Given the description of an element on the screen output the (x, y) to click on. 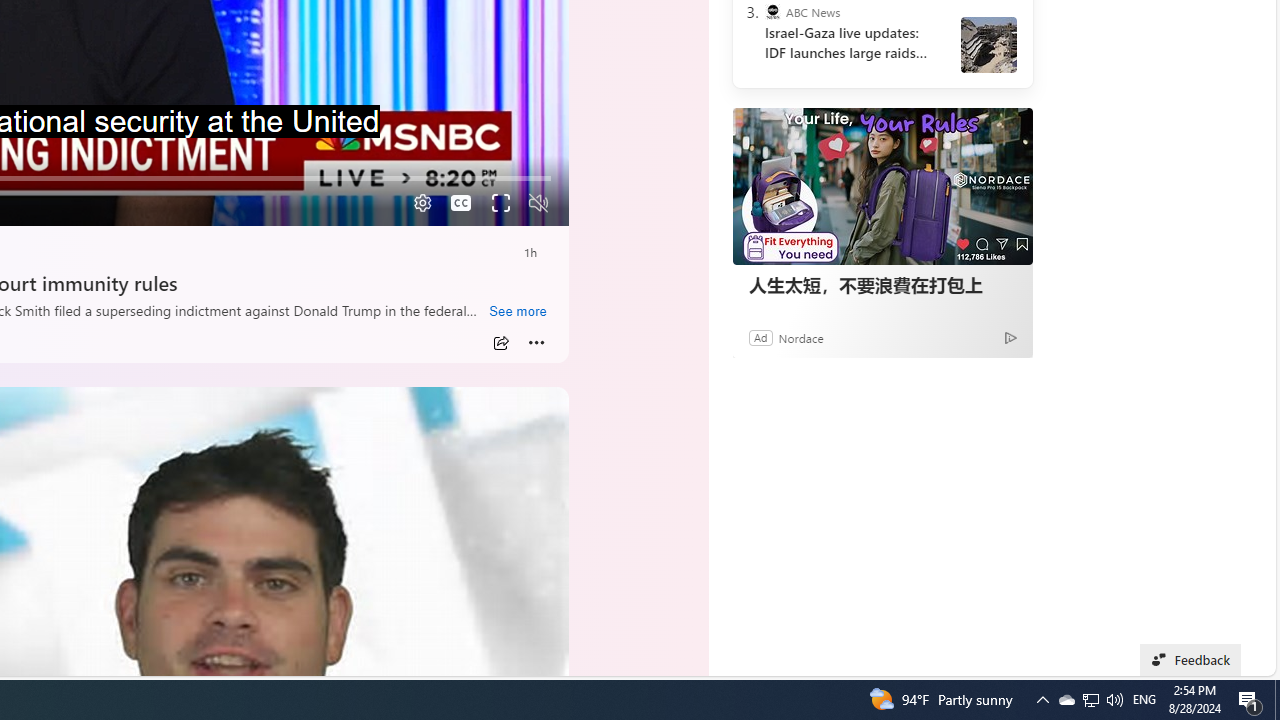
Fullscreen (500, 203)
Share (501, 343)
Unmute (538, 203)
ABC News (772, 12)
More (536, 343)
Ad (760, 337)
More (536, 343)
Quality Settings (420, 203)
Feedback (1190, 659)
